Given the description of an element on the screen output the (x, y) to click on. 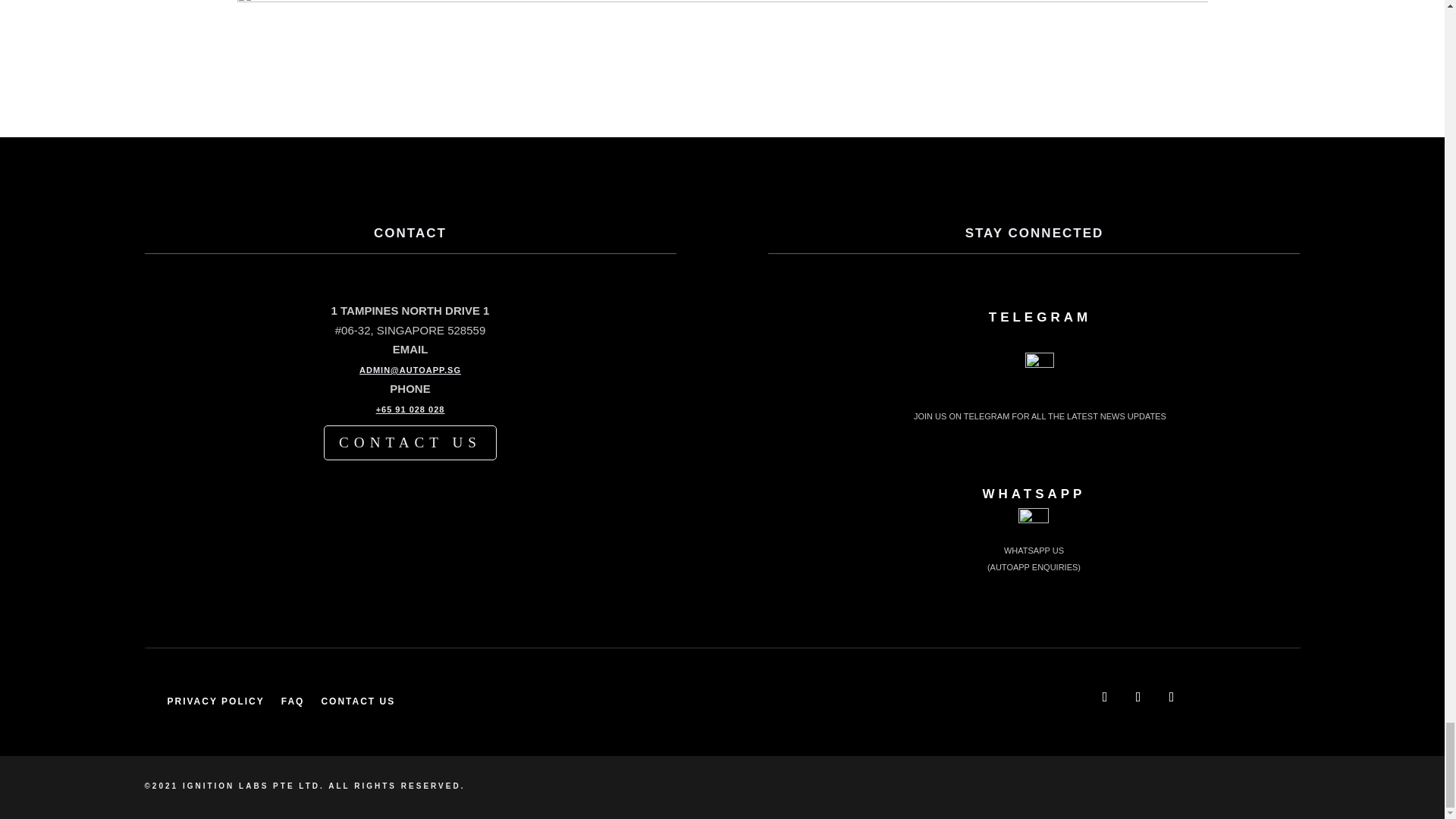
autoapp super tyre deals longer copy (721, 61)
Follow on Youtube (1137, 696)
Follow on Facebook (1104, 696)
Follow on Instagram (1171, 696)
